Given the description of an element on the screen output the (x, y) to click on. 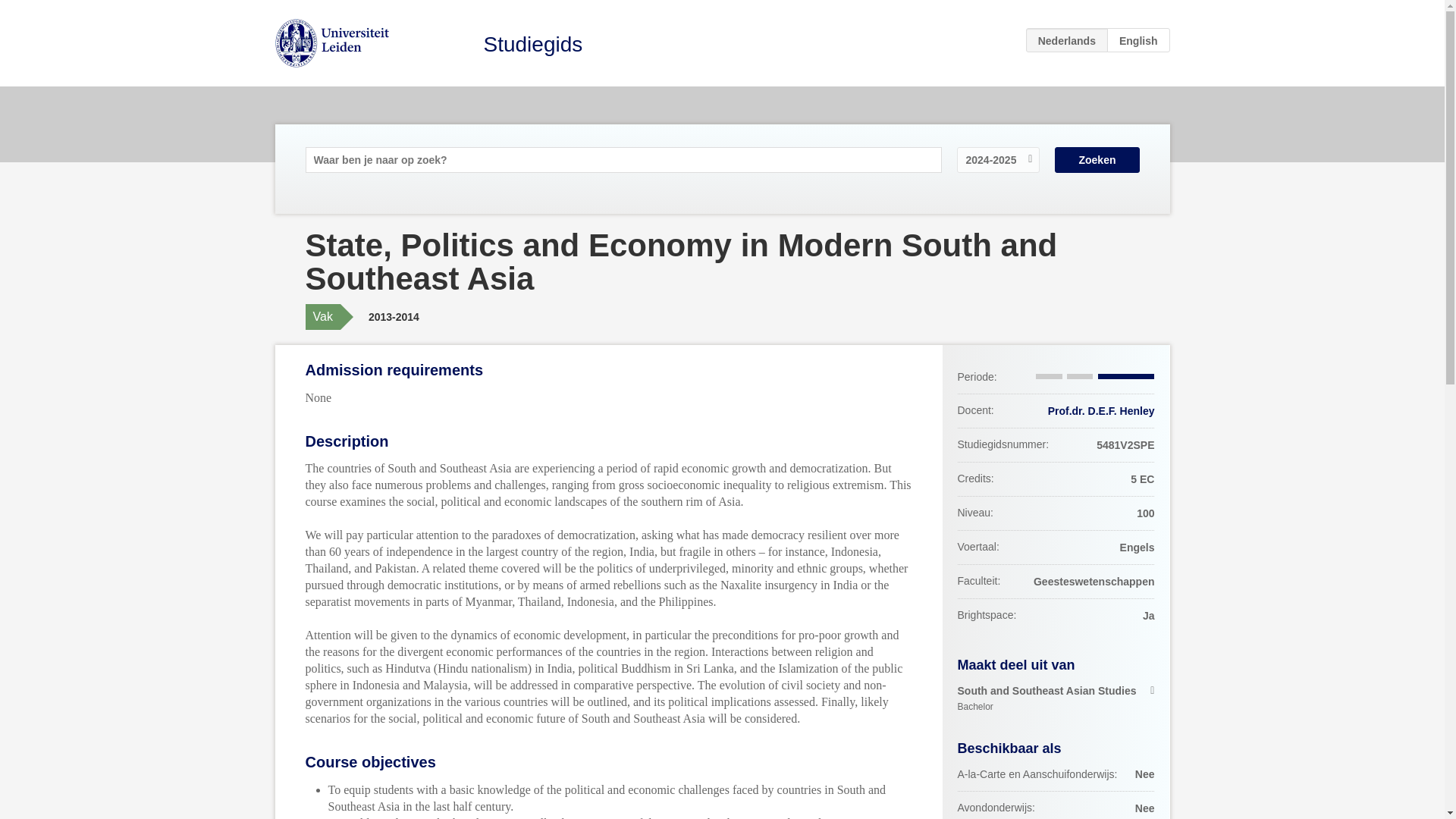
EN (1138, 39)
Studiegids (533, 44)
Prof.dr. D.E.F. Henley (1101, 410)
Zoeken (1055, 698)
